Given the description of an element on the screen output the (x, y) to click on. 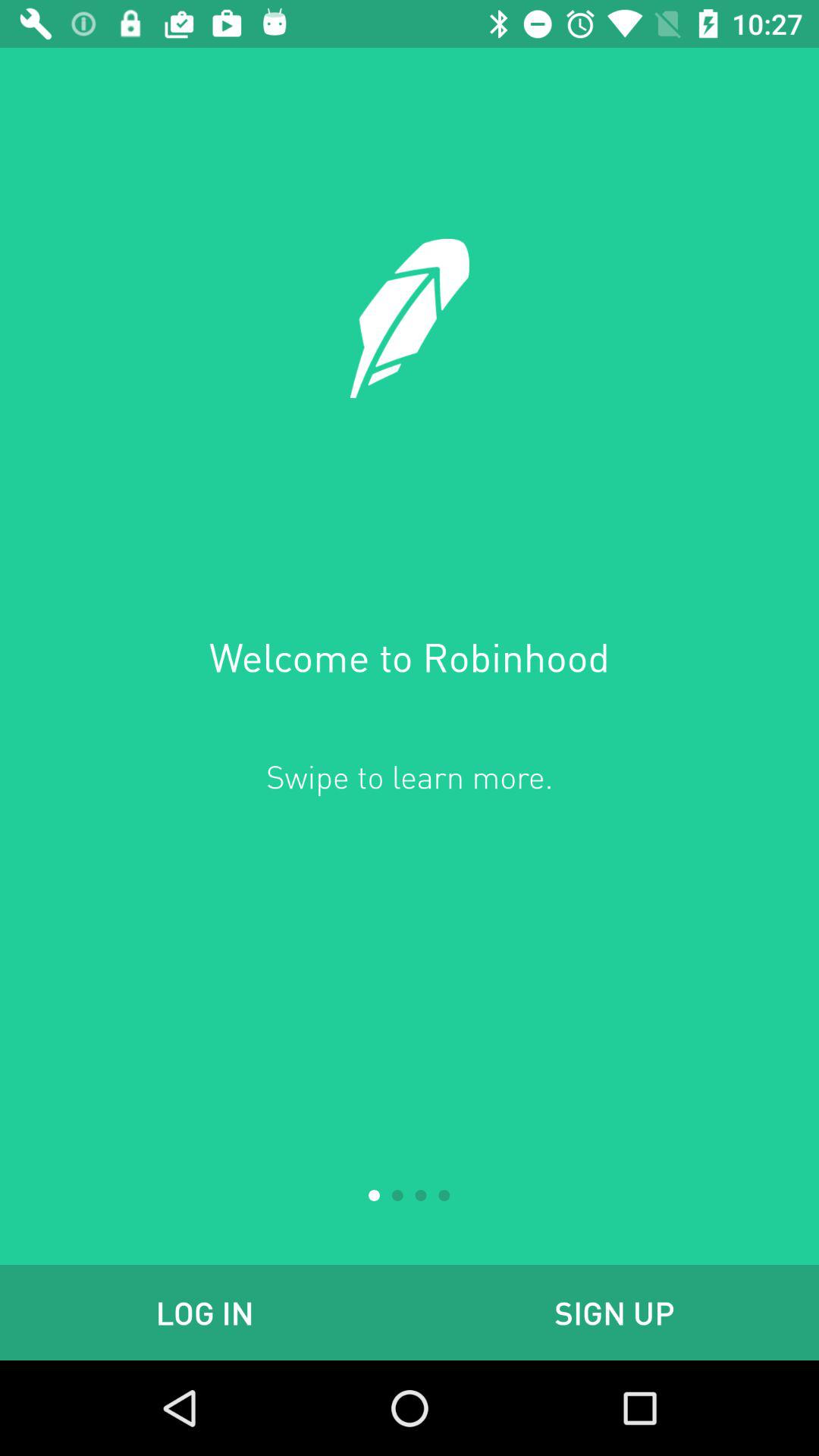
turn off log in icon (204, 1312)
